Given the description of an element on the screen output the (x, y) to click on. 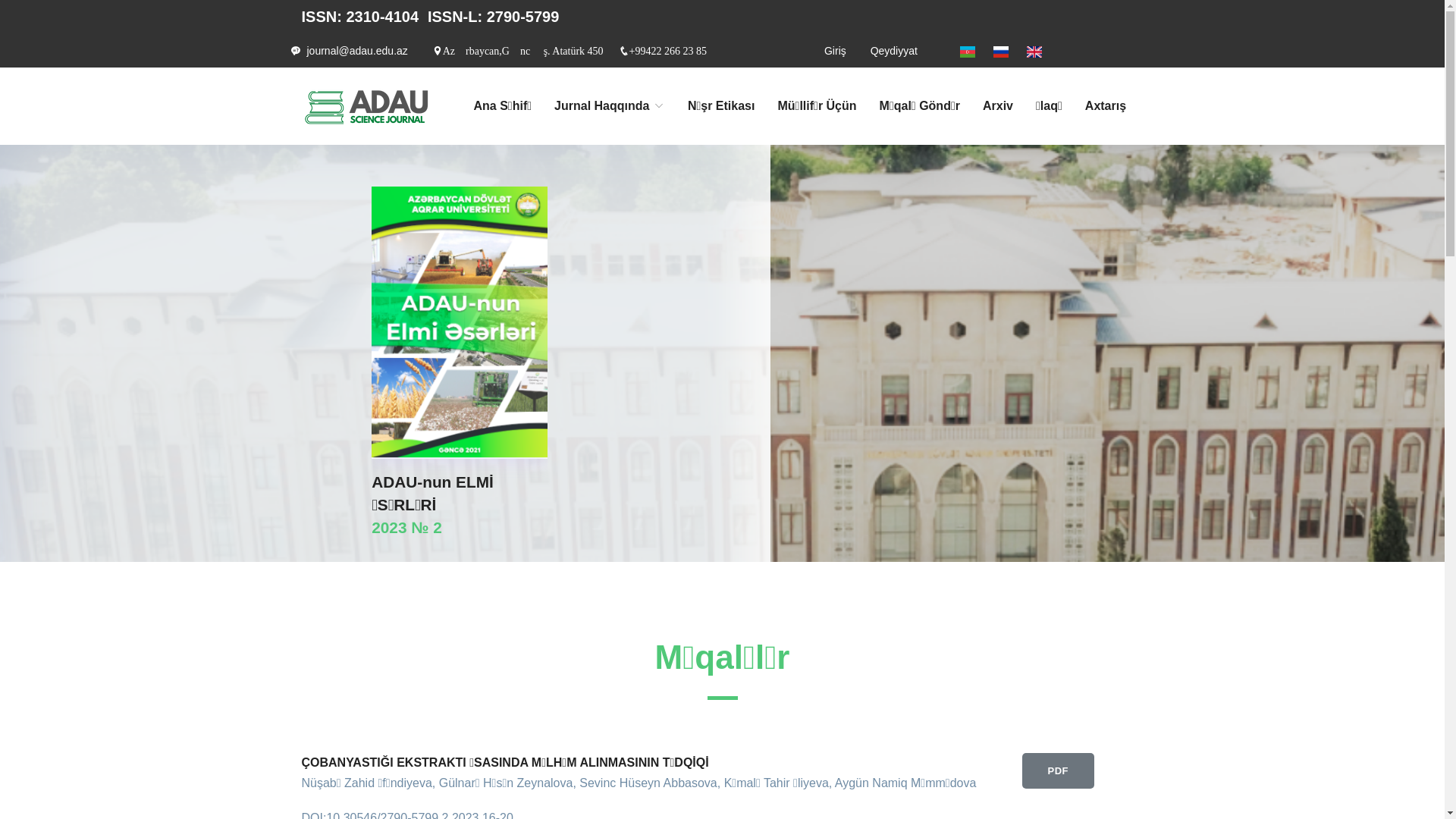
PDF Element type: text (1058, 771)
Qeydiyyat Element type: text (893, 50)
journal@adau.edu.az Element type: text (356, 50)
Arxiv Element type: text (997, 105)
+99422 266 23 85 Element type: text (667, 50)
